Given the description of an element on the screen output the (x, y) to click on. 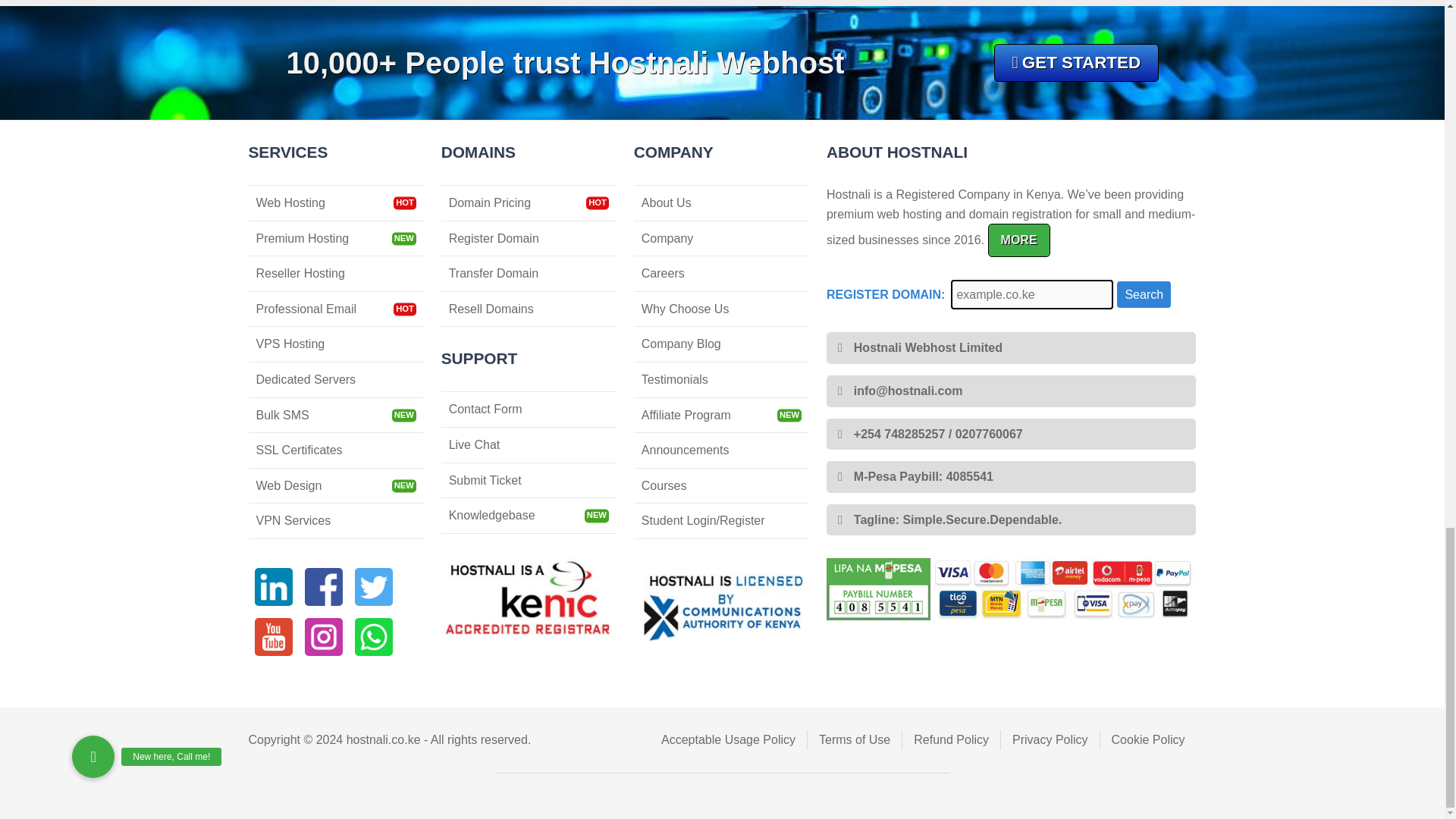
Search (1143, 294)
Hostnali Facebook (323, 587)
Hostnali LinkedIn (273, 587)
Hostnali Twitter (374, 587)
Hostnali YouTube (273, 637)
Hostnali Instagram (323, 637)
Hostnali WhatsApp (374, 637)
